Given the description of an element on the screen output the (x, y) to click on. 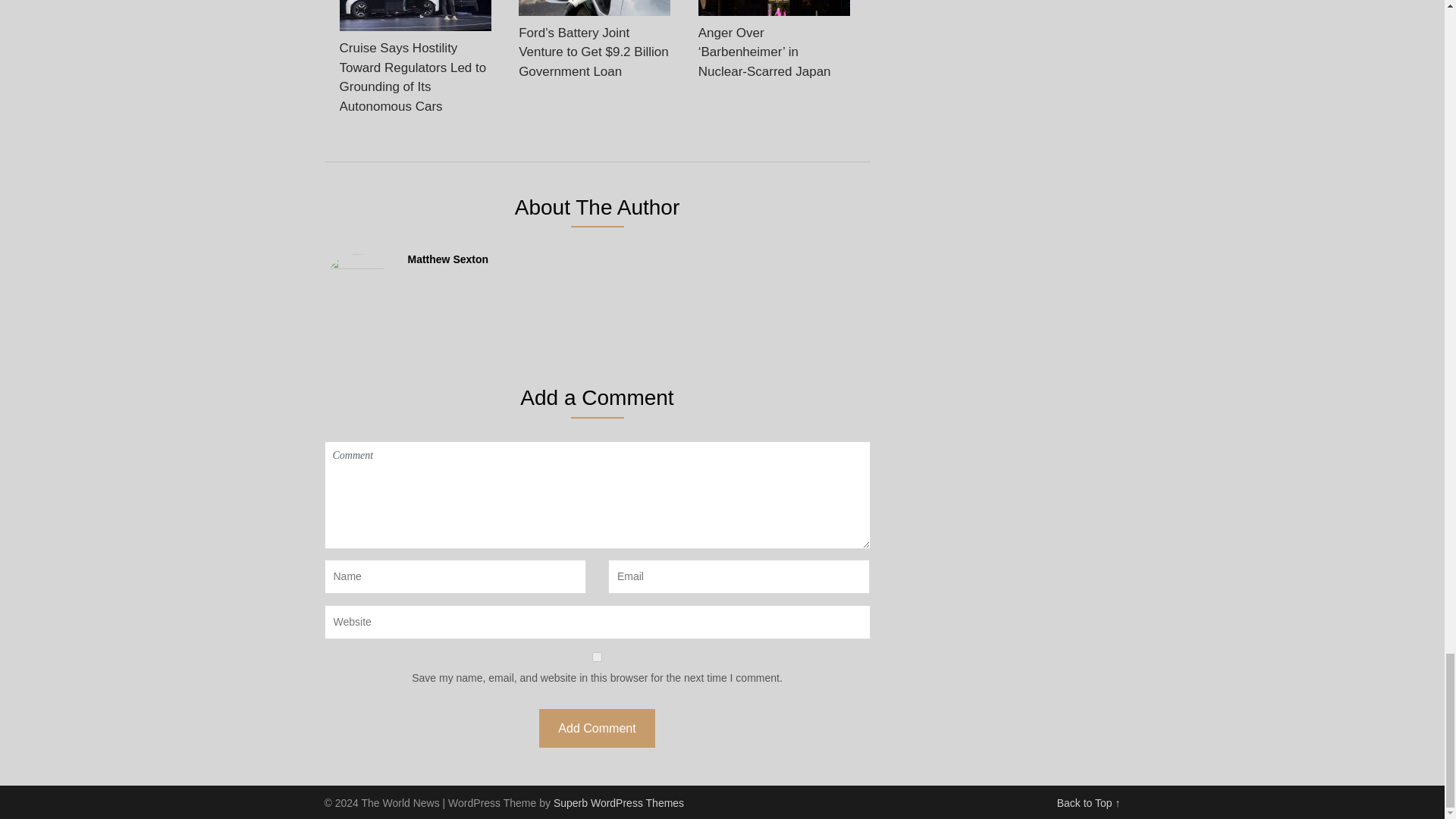
Add Comment (595, 728)
Add Comment (595, 728)
yes (597, 656)
